Given the description of an element on the screen output the (x, y) to click on. 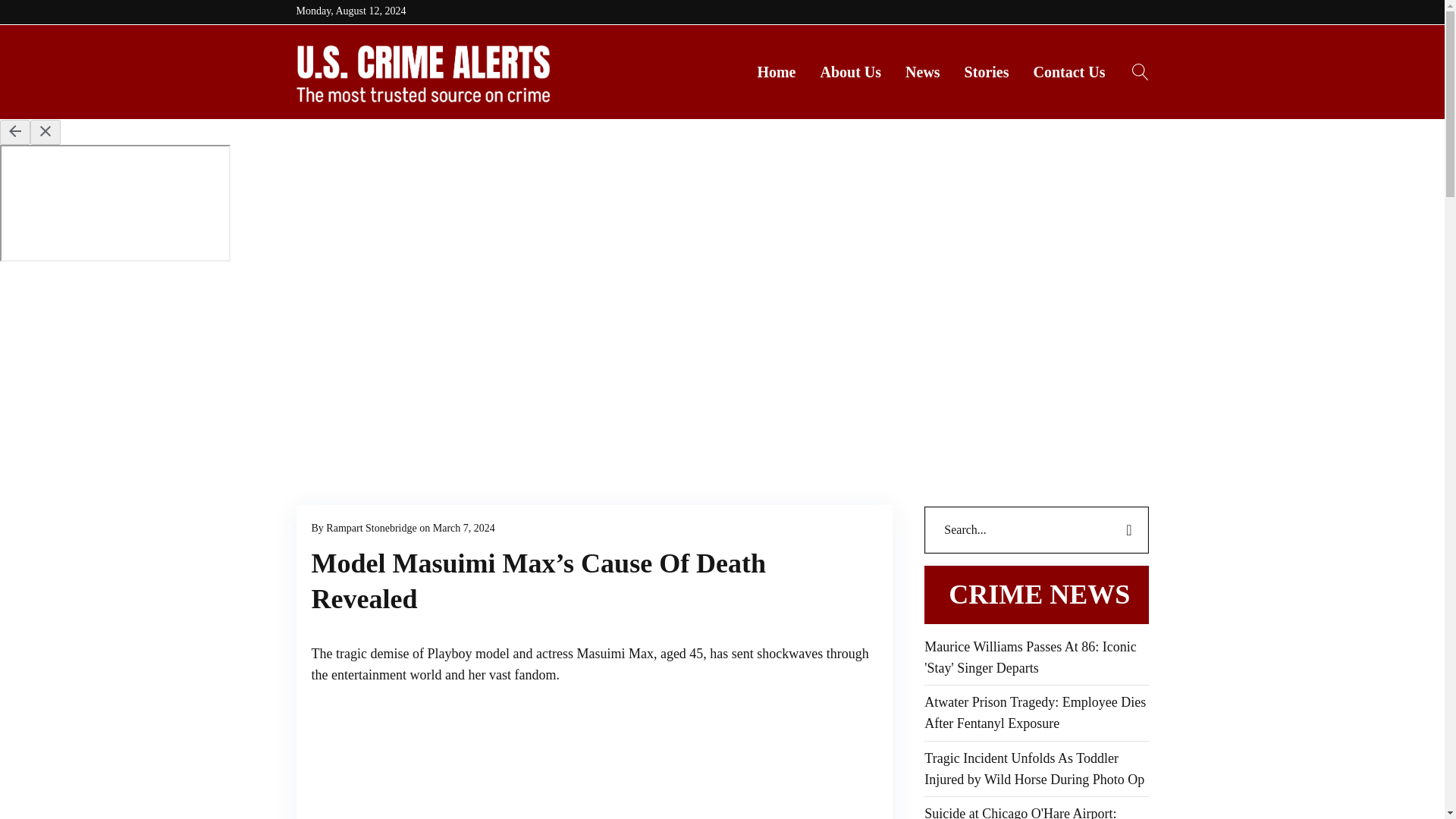
Maurice Williams Passes At 86: Iconic 'Stay' Singer Departs (1036, 657)
Advertisement (424, 759)
Rampart Stonebridge (371, 527)
Contact Us (1068, 71)
About Us (850, 71)
Home (776, 71)
News (922, 71)
